Given the description of an element on the screen output the (x, y) to click on. 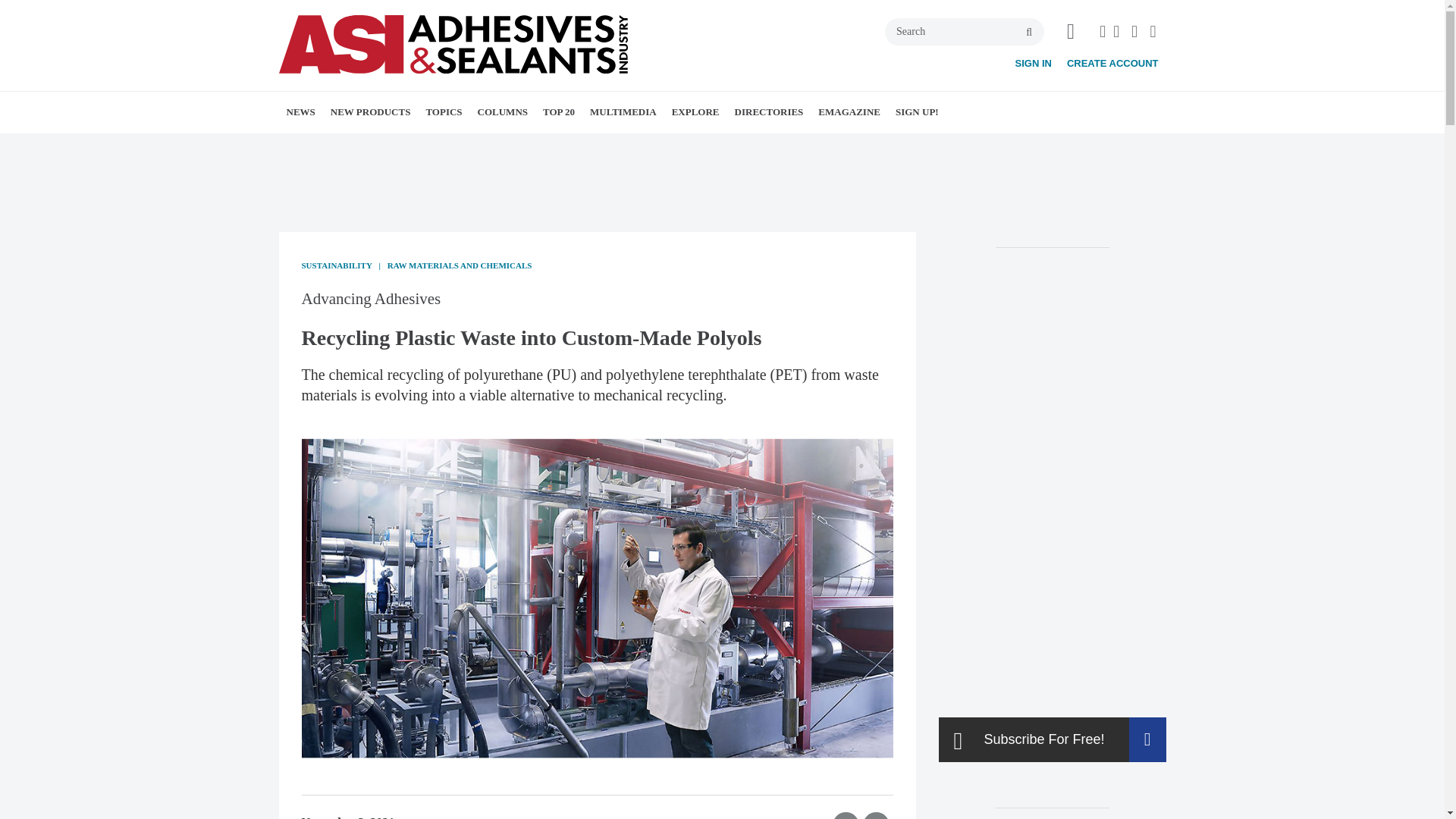
STRATEGIC SOLUTIONS (582, 145)
SIGN IN (1032, 62)
EVENTS CALENDAR (398, 145)
NEWS (301, 111)
RAW MATERIALS AND CHEMICALS (538, 154)
FINISHED ADHESIVES AND SEALANTS (512, 154)
TOPICS (442, 111)
Search (964, 31)
SUSTAINABILITY (564, 145)
CREATE ACCOUNT (1112, 62)
